Given the description of an element on the screen output the (x, y) to click on. 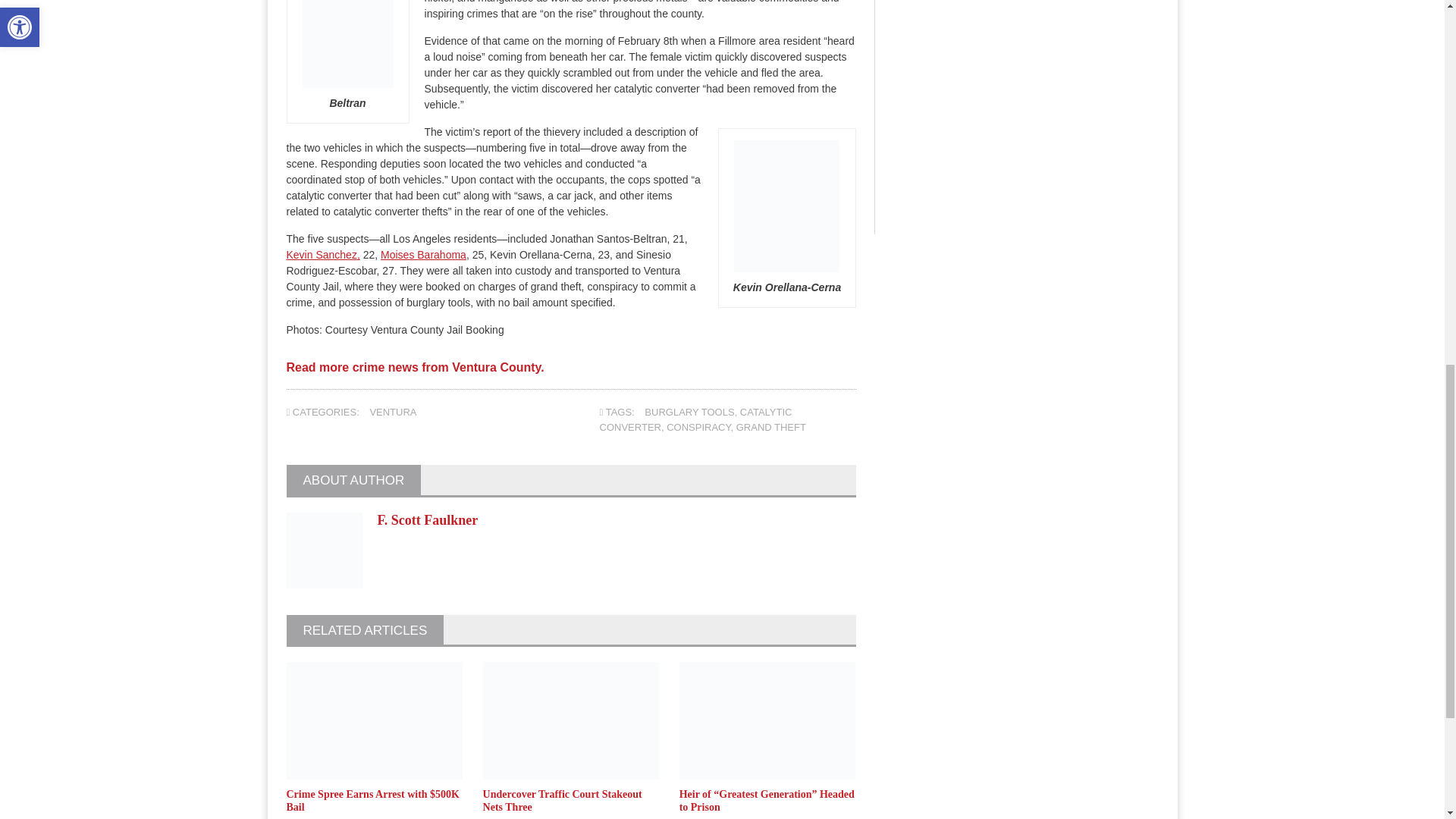
VENTURA (392, 411)
Read more crime news from Ventura County. (415, 373)
GRAND THEFT (771, 427)
Undercover Traffic Court Stakeout Nets Three (562, 800)
F. Scott Faulkner (428, 519)
CATALYTIC CONVERTER (695, 419)
BURGLARY TOOLS (689, 411)
Moises Barahoma (422, 254)
Kevin Sanchez, (322, 254)
CONSPIRACY (698, 427)
